Given the description of an element on the screen output the (x, y) to click on. 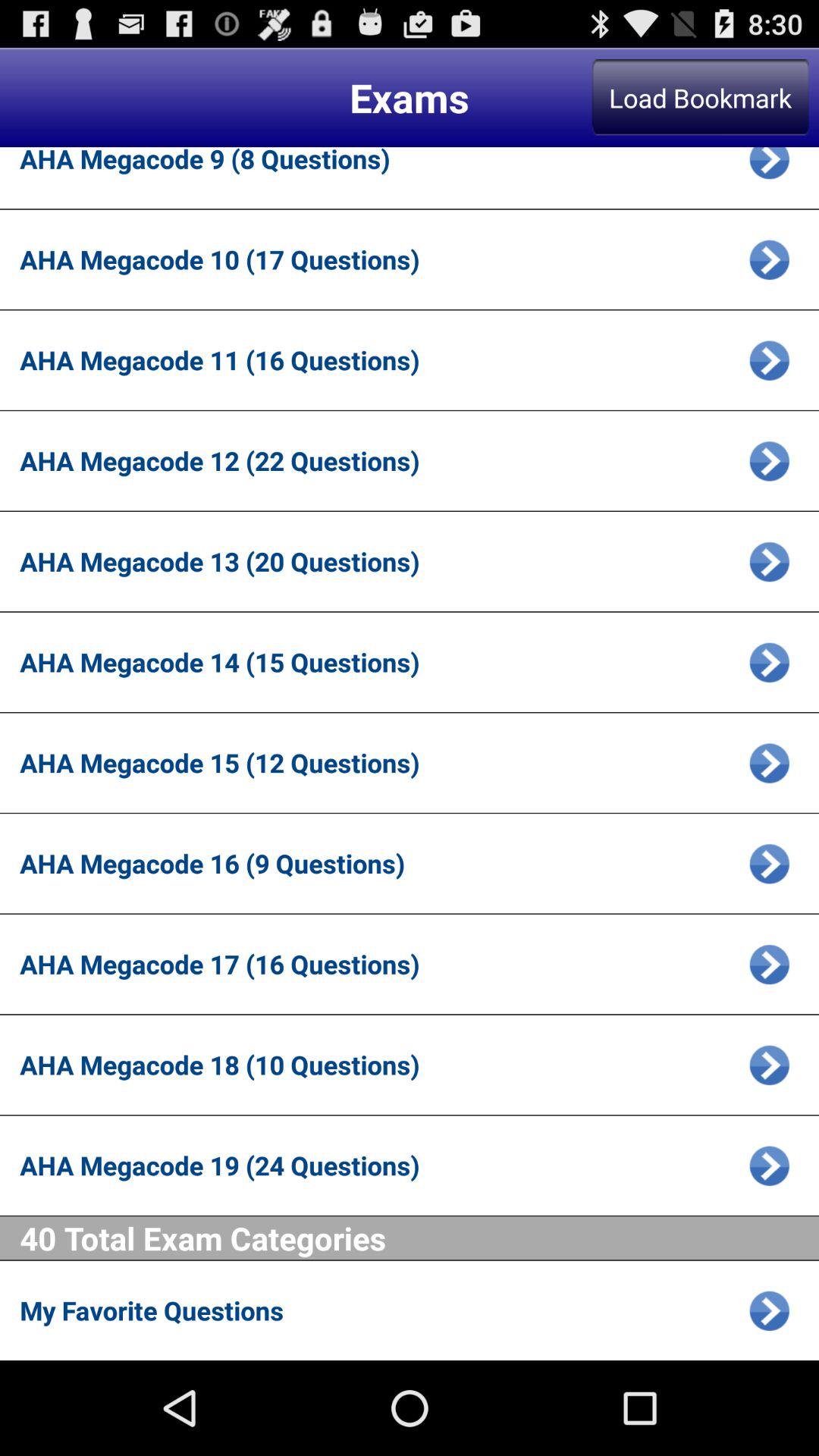
select item below the 40 total exam app (379, 1310)
